Given the description of an element on the screen output the (x, y) to click on. 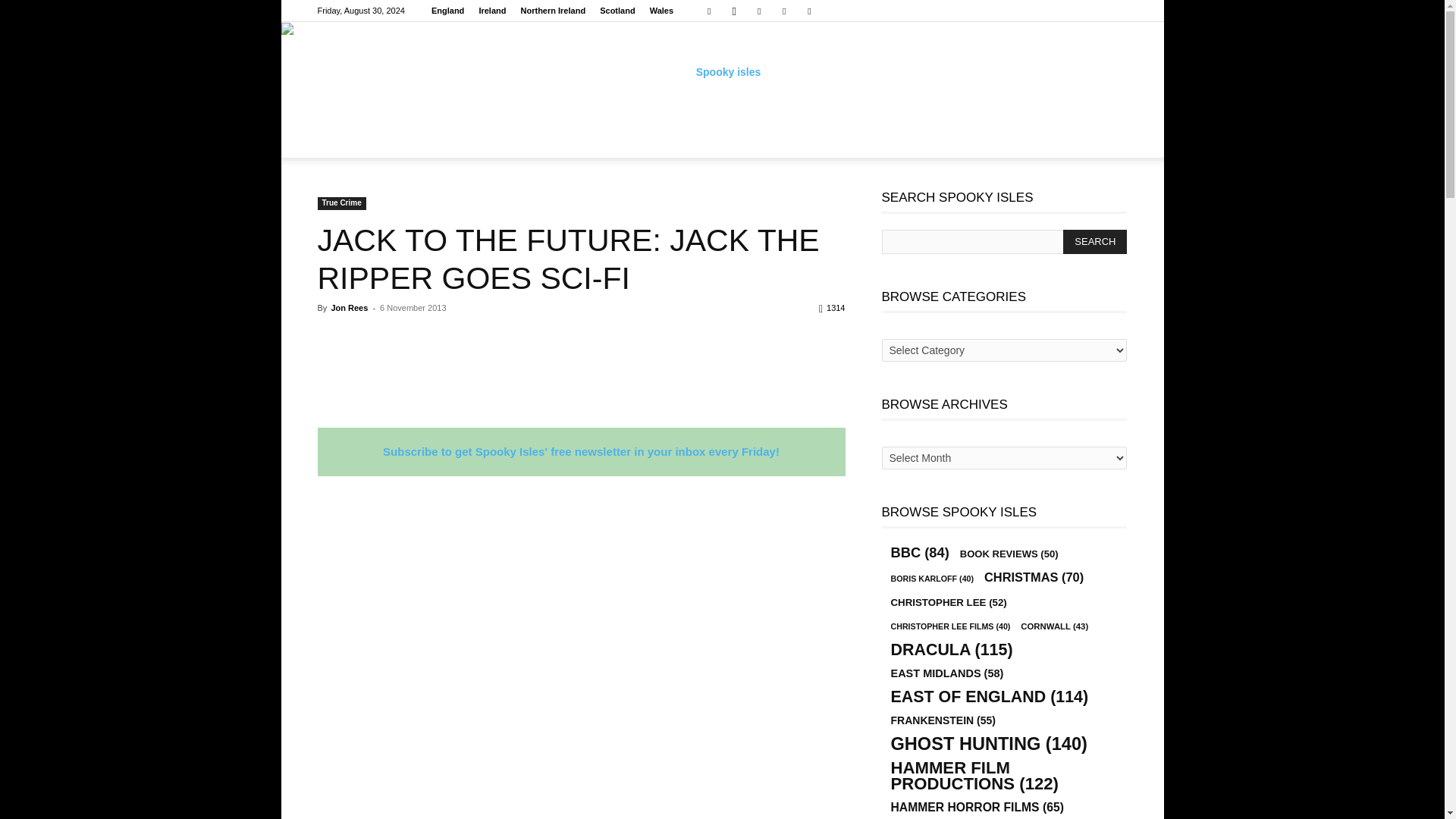
Spooky Isles (722, 71)
Instagram (733, 10)
Pinterest (759, 10)
Facebook (708, 10)
Youtube (809, 10)
England (447, 10)
Twitter (783, 10)
Search (1094, 241)
